Given the description of an element on the screen output the (x, y) to click on. 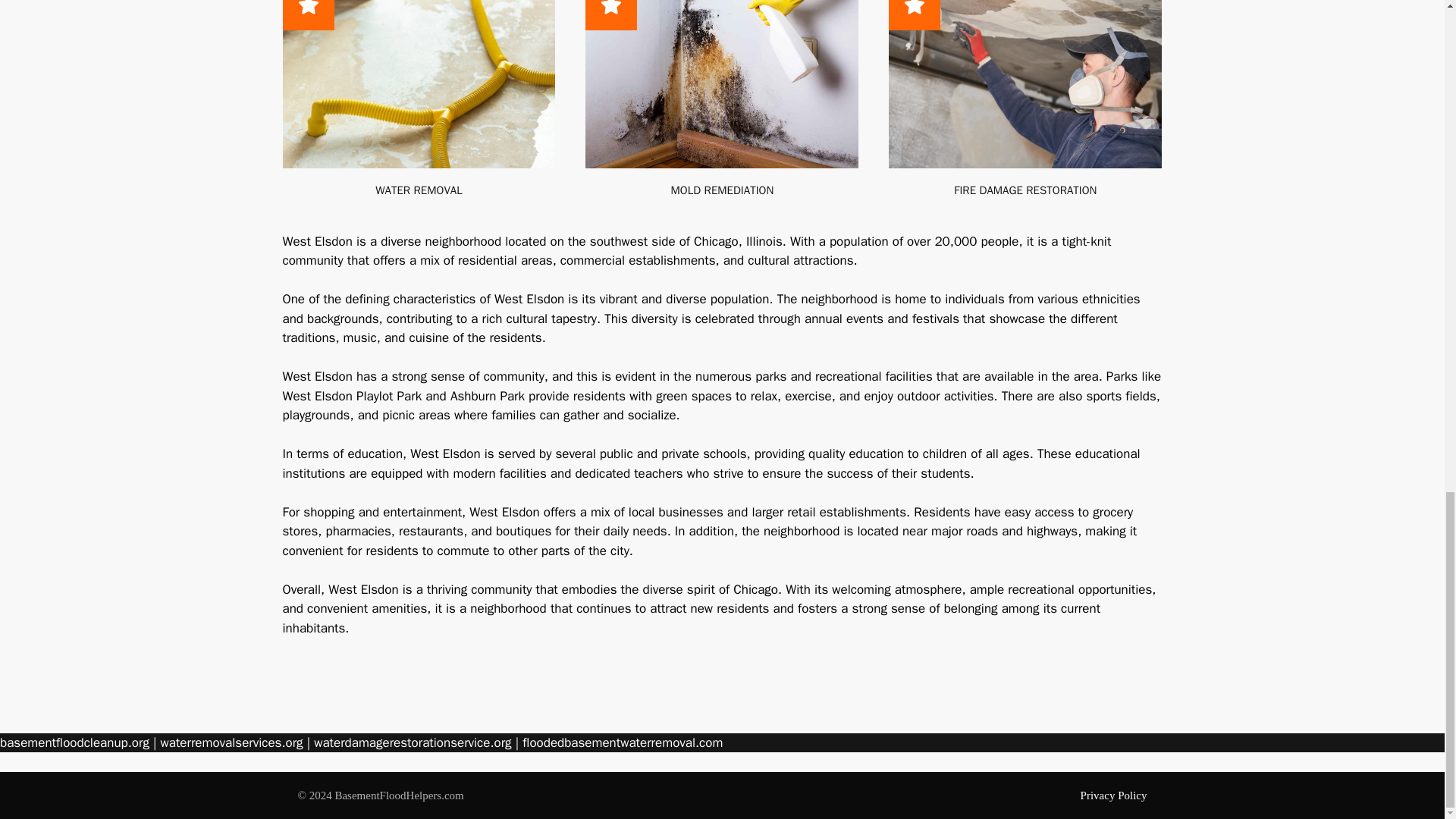
waterdamagerestorationservice.org (412, 742)
waterremovalservices.org (231, 742)
basementfloodcleanup.org (74, 742)
Privacy Policy (1113, 795)
floodedbasementwaterremoval.com (622, 742)
